Given the description of an element on the screen output the (x, y) to click on. 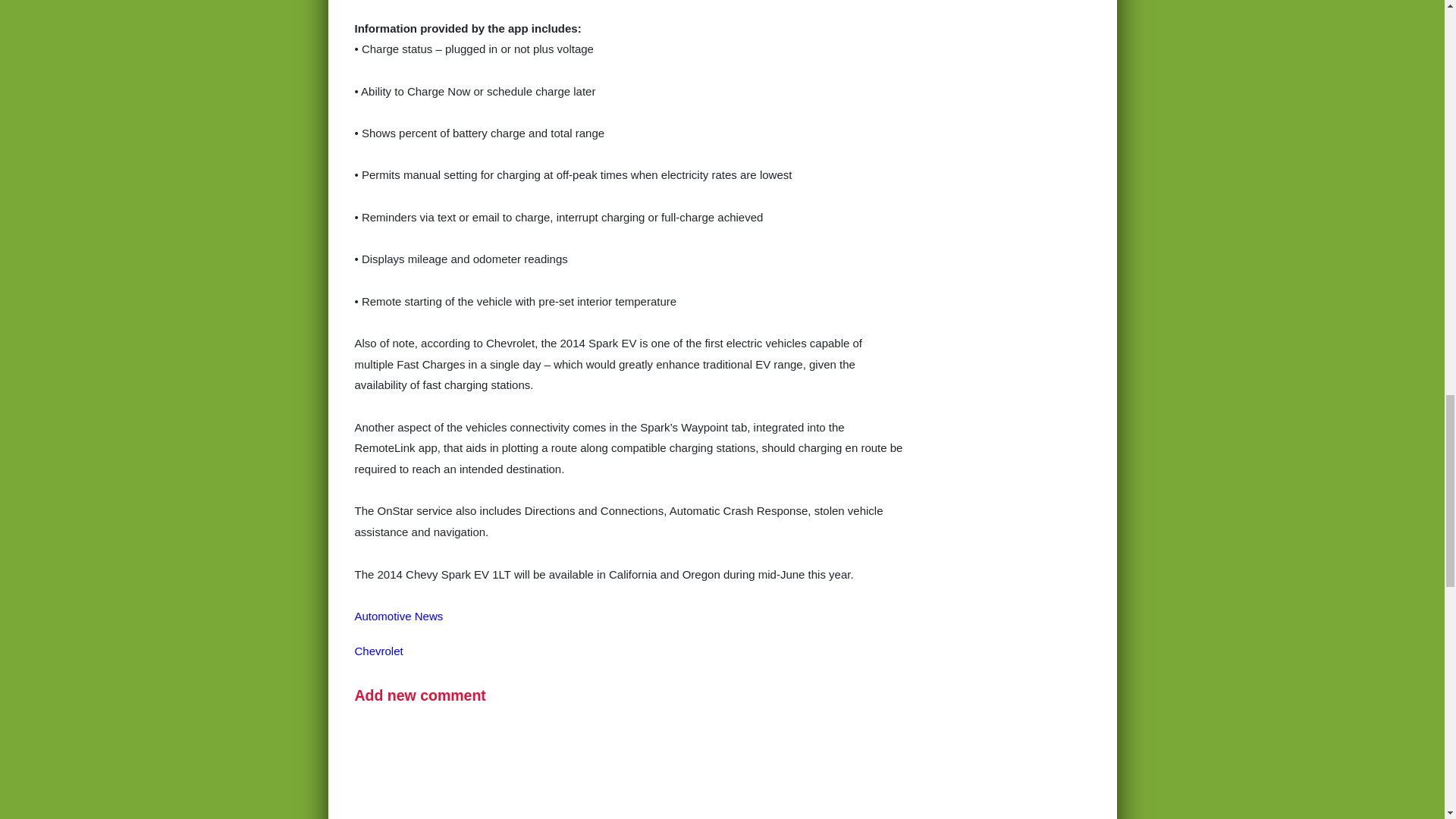
Add new comment (420, 695)
Automotive News (399, 615)
Share your thoughts and opinions. (420, 695)
Chevrolet (379, 650)
